Given the description of an element on the screen output the (x, y) to click on. 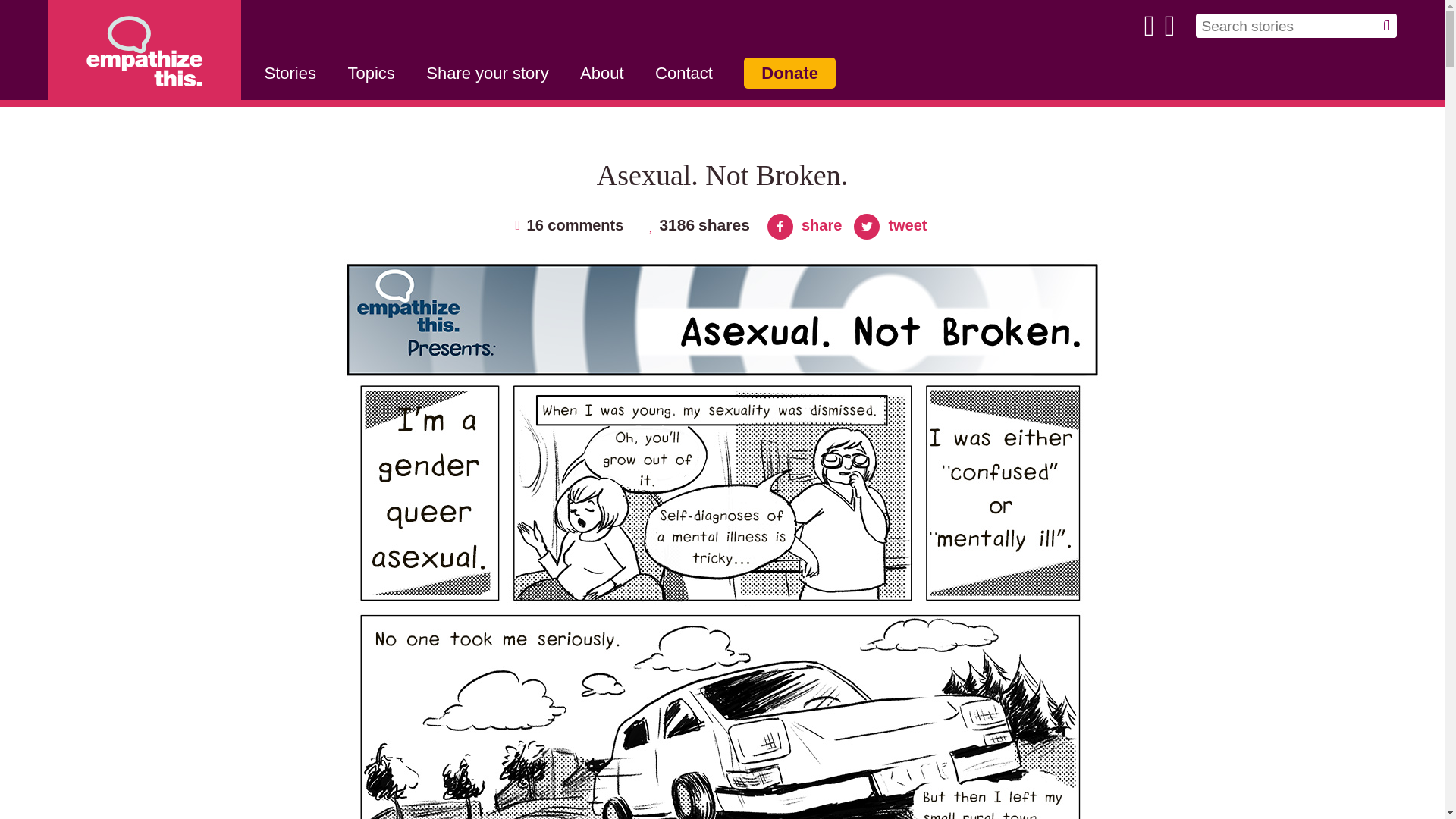
Topics (370, 72)
About (601, 72)
Donate (789, 72)
Search (24, 9)
Contact (684, 72)
Share your story (487, 72)
Stories (289, 72)
